Given the description of an element on the screen output the (x, y) to click on. 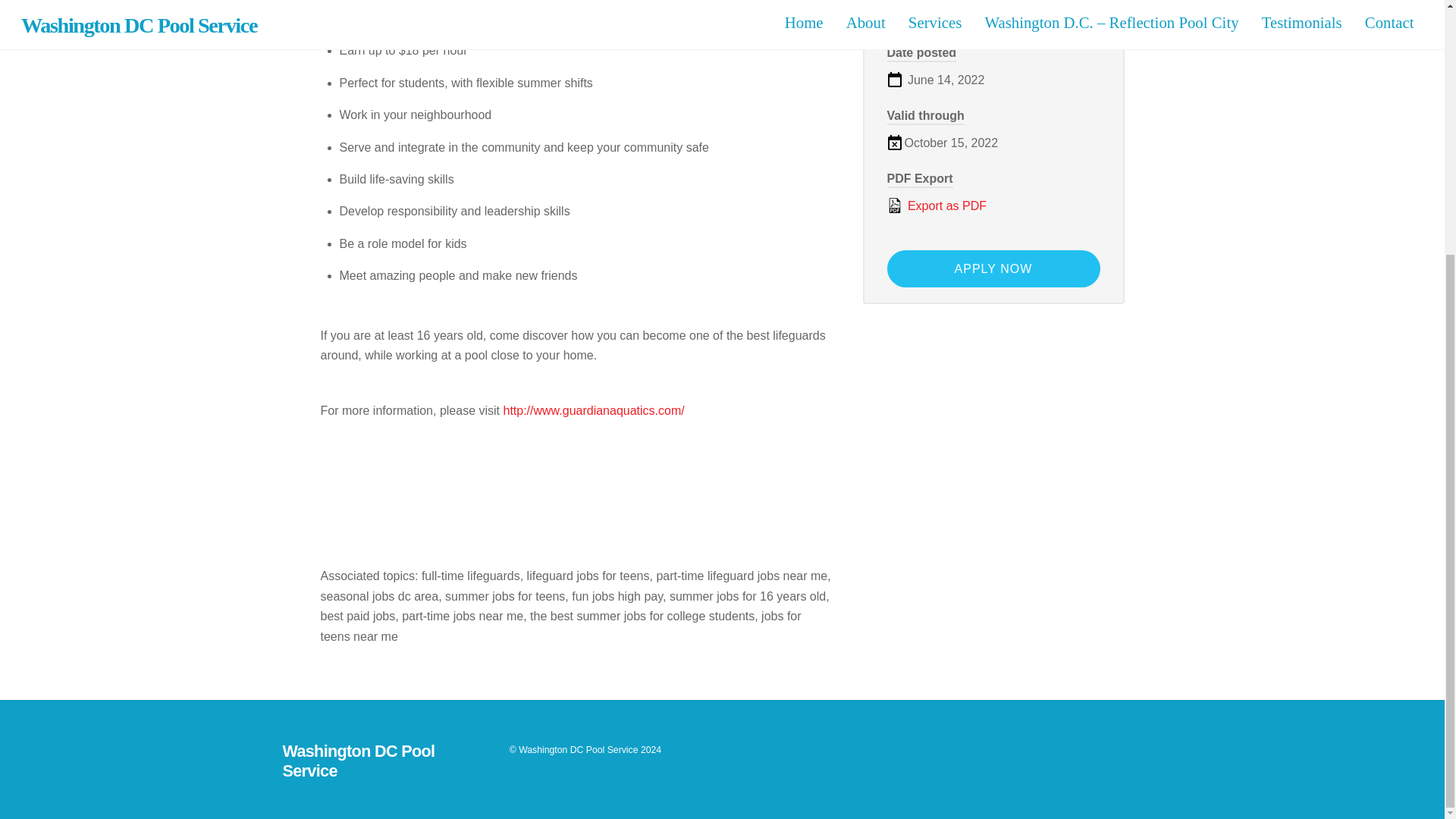
Washington DC Pool Service (357, 761)
Export as PDF (993, 206)
Washington DC Pool Service (577, 749)
APPLY NOW (993, 268)
Washington DC Pool Service (357, 761)
